Given the description of an element on the screen output the (x, y) to click on. 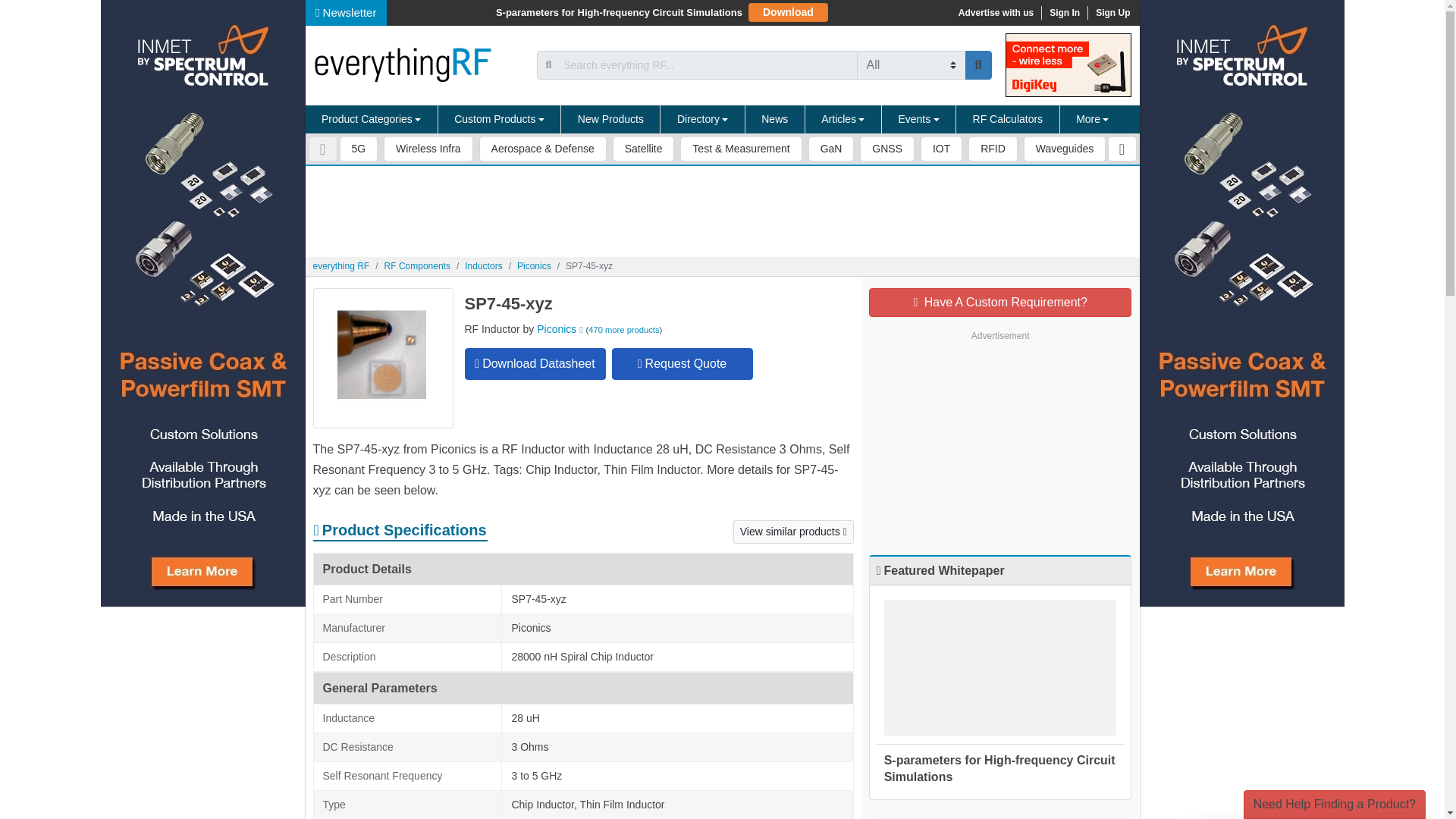
Product Categories (371, 119)
Newsletter (345, 12)
Download (788, 12)
Sign In (1064, 12)
Sign Up (1112, 12)
S-parameters for High-frequency Circuit Simulations (619, 12)
Advertise with us (995, 12)
